Given the description of an element on the screen output the (x, y) to click on. 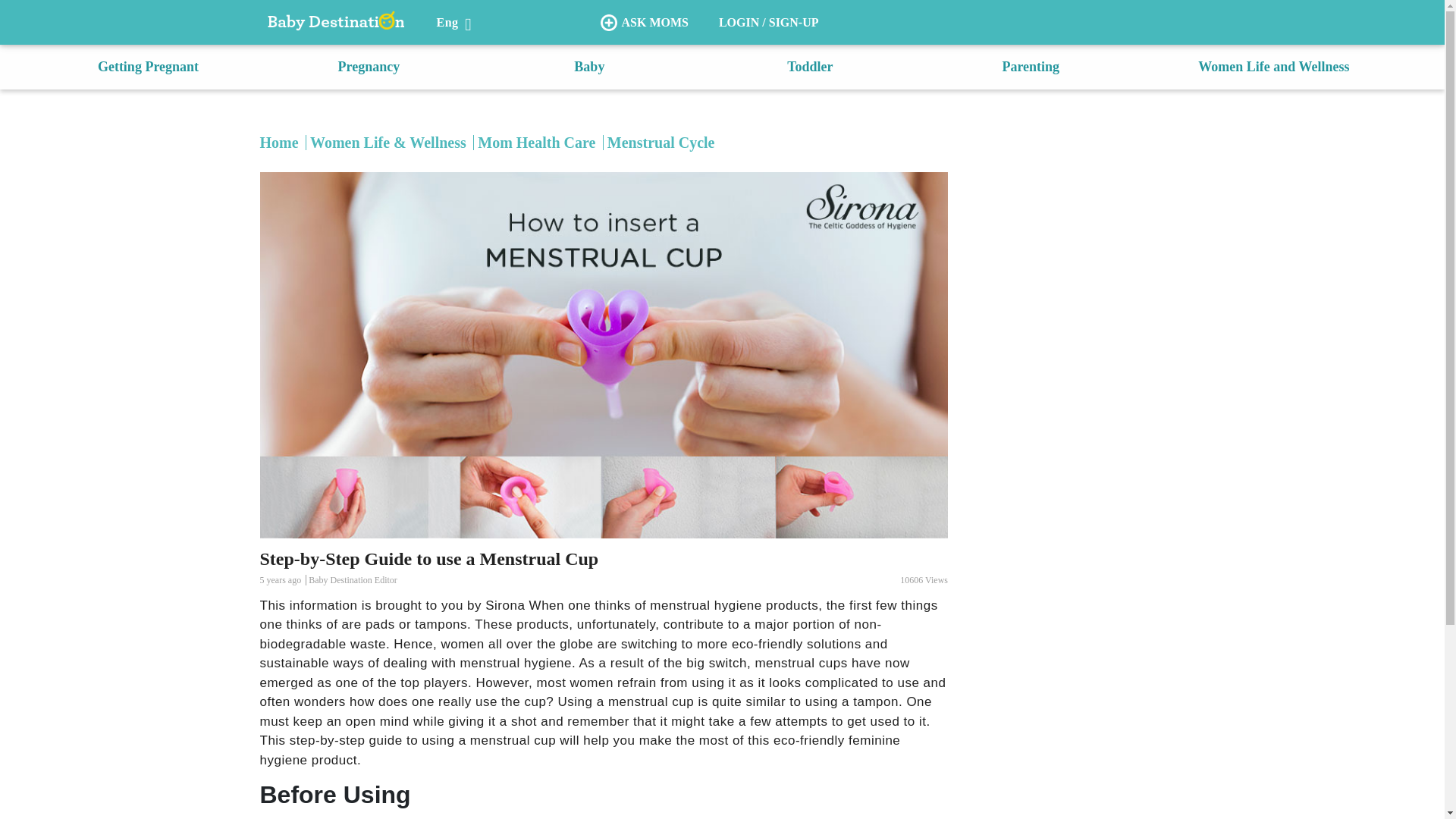
Baby (588, 66)
Getting Pregnant (147, 66)
ASK MOMS (644, 22)
Toddler (810, 66)
Pregnancy (368, 66)
